Given the description of an element on the screen output the (x, y) to click on. 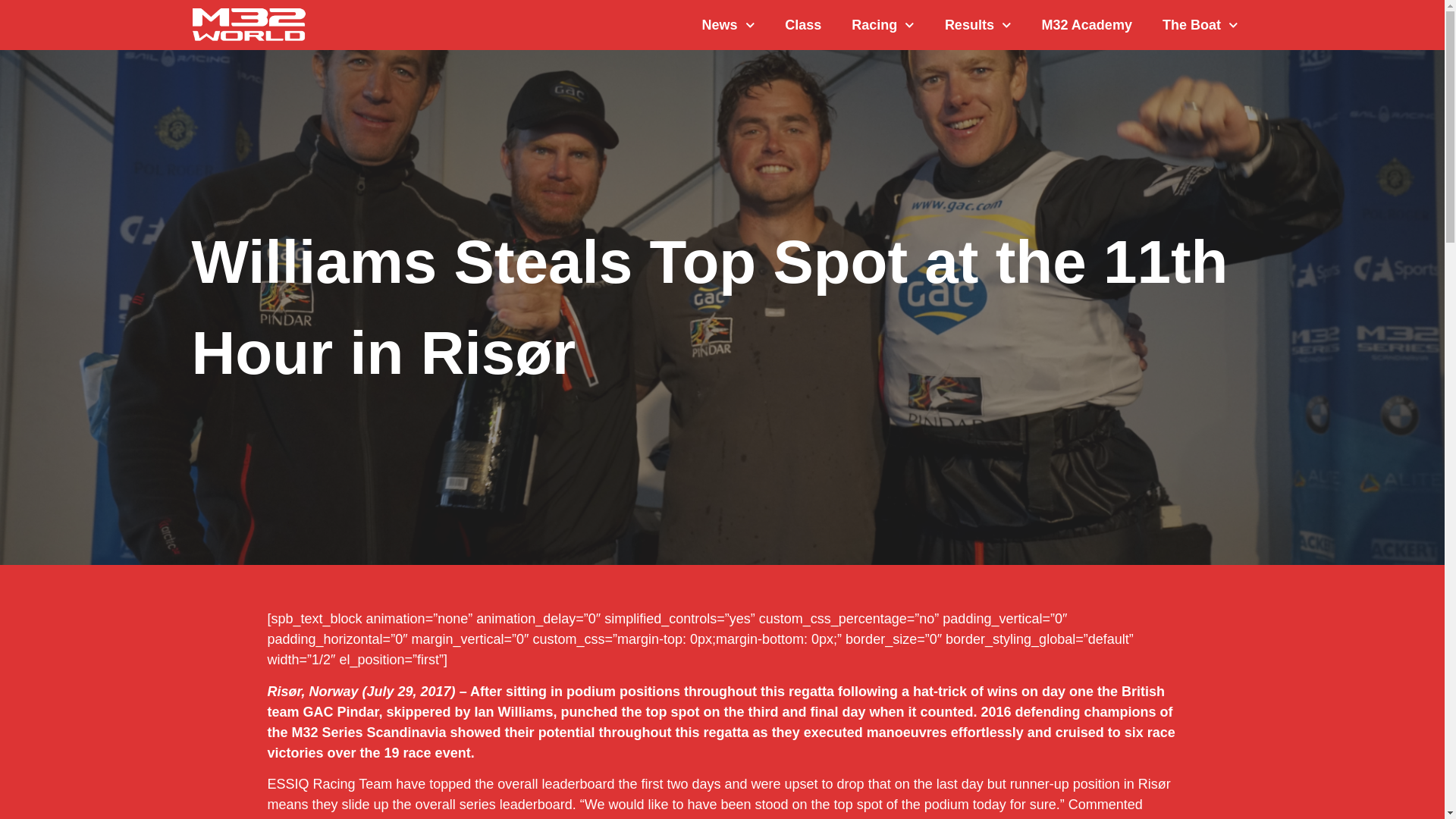
Results (978, 24)
Racing (882, 24)
Racing (882, 24)
News (728, 24)
M32 Academy (1086, 24)
The Boat (1200, 24)
Class (802, 24)
